Given the description of an element on the screen output the (x, y) to click on. 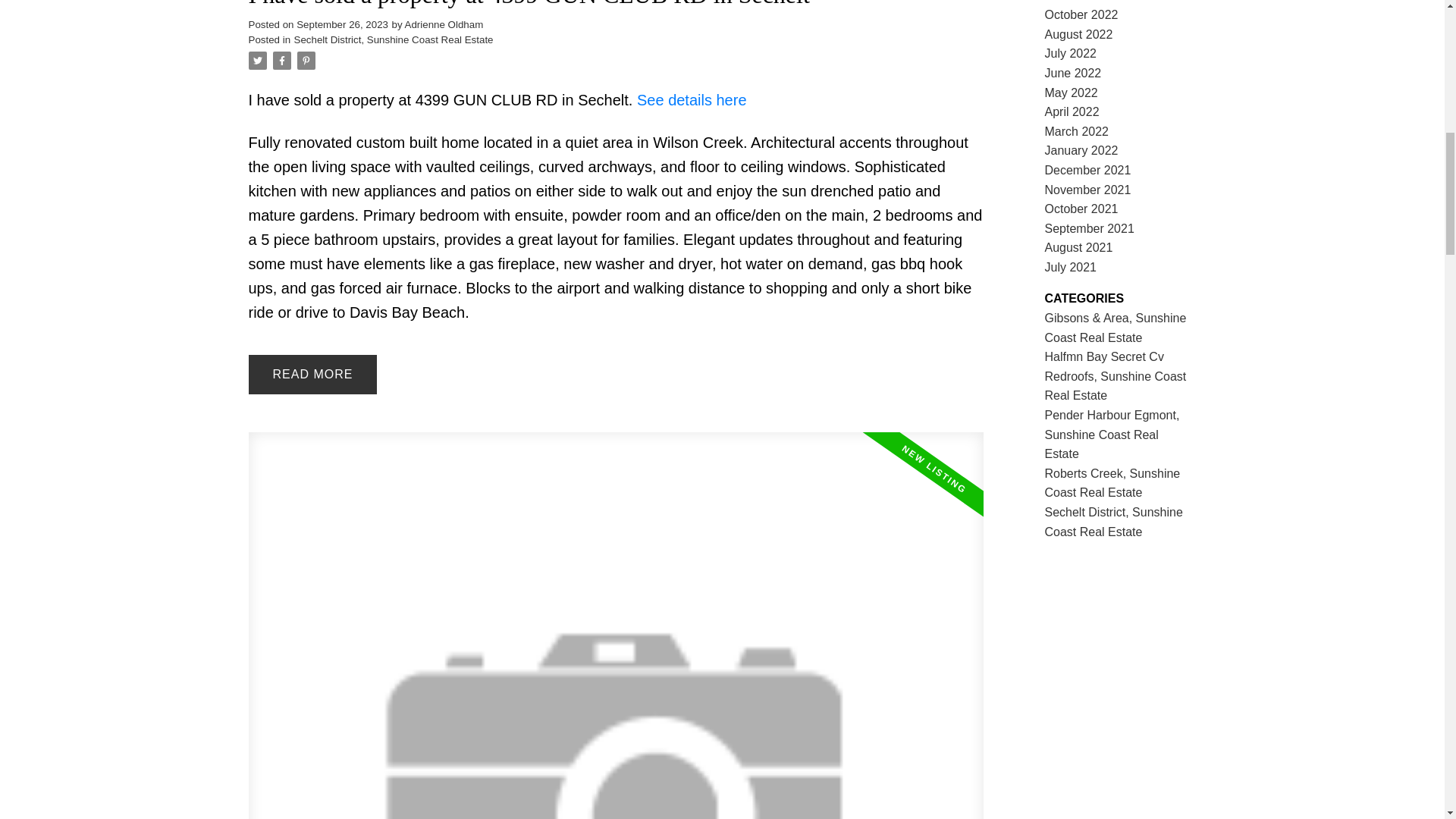
See details here (691, 99)
READ (312, 373)
I have sold a property at 4399 GUN CLUB RD in Sechelt (616, 6)
Sechelt District, Sunshine Coast Real Estate (393, 39)
